Given the description of an element on the screen output the (x, y) to click on. 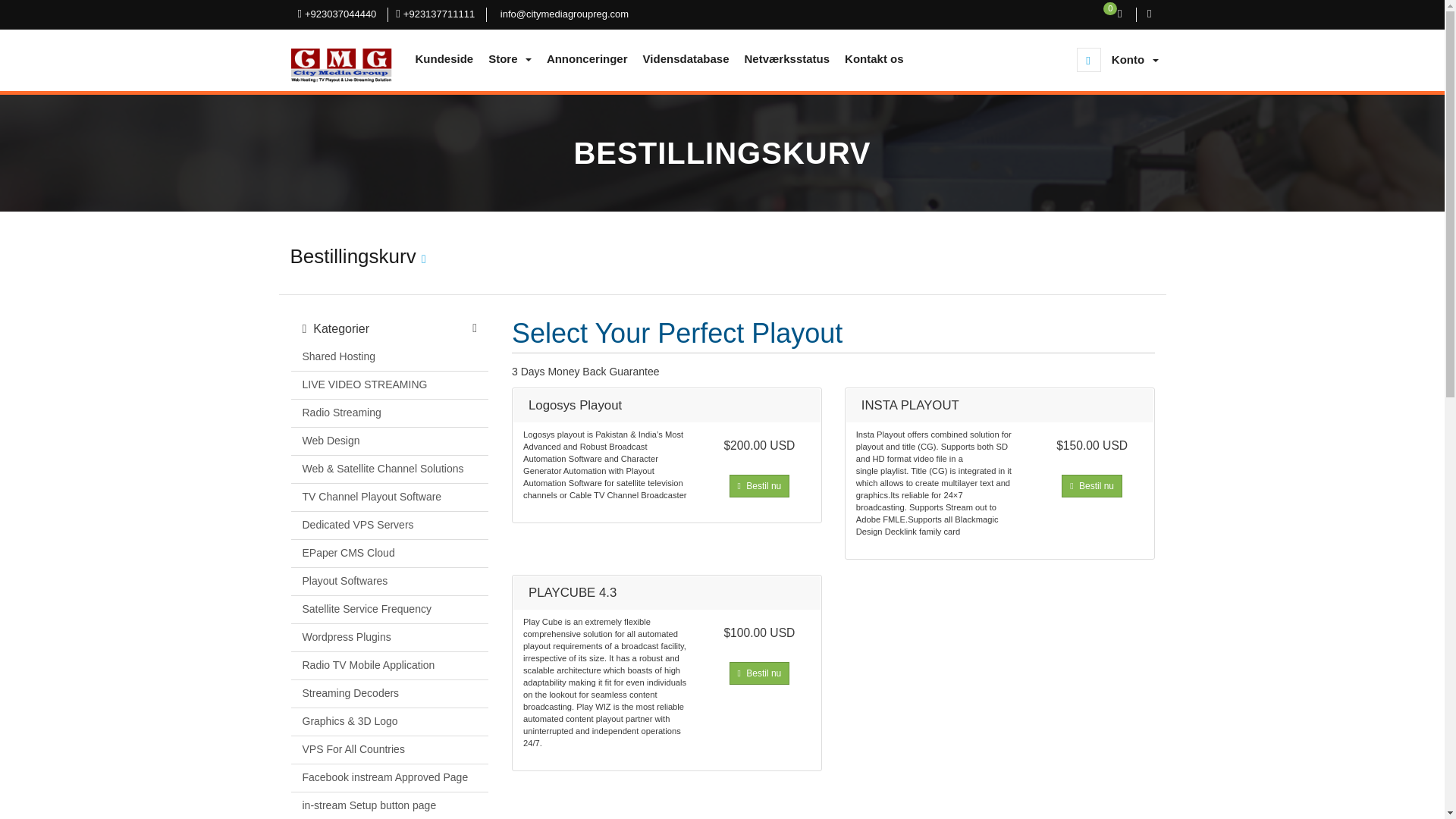
Kundeside (444, 59)
Store   (509, 59)
Konto   (1134, 59)
